Given the description of an element on the screen output the (x, y) to click on. 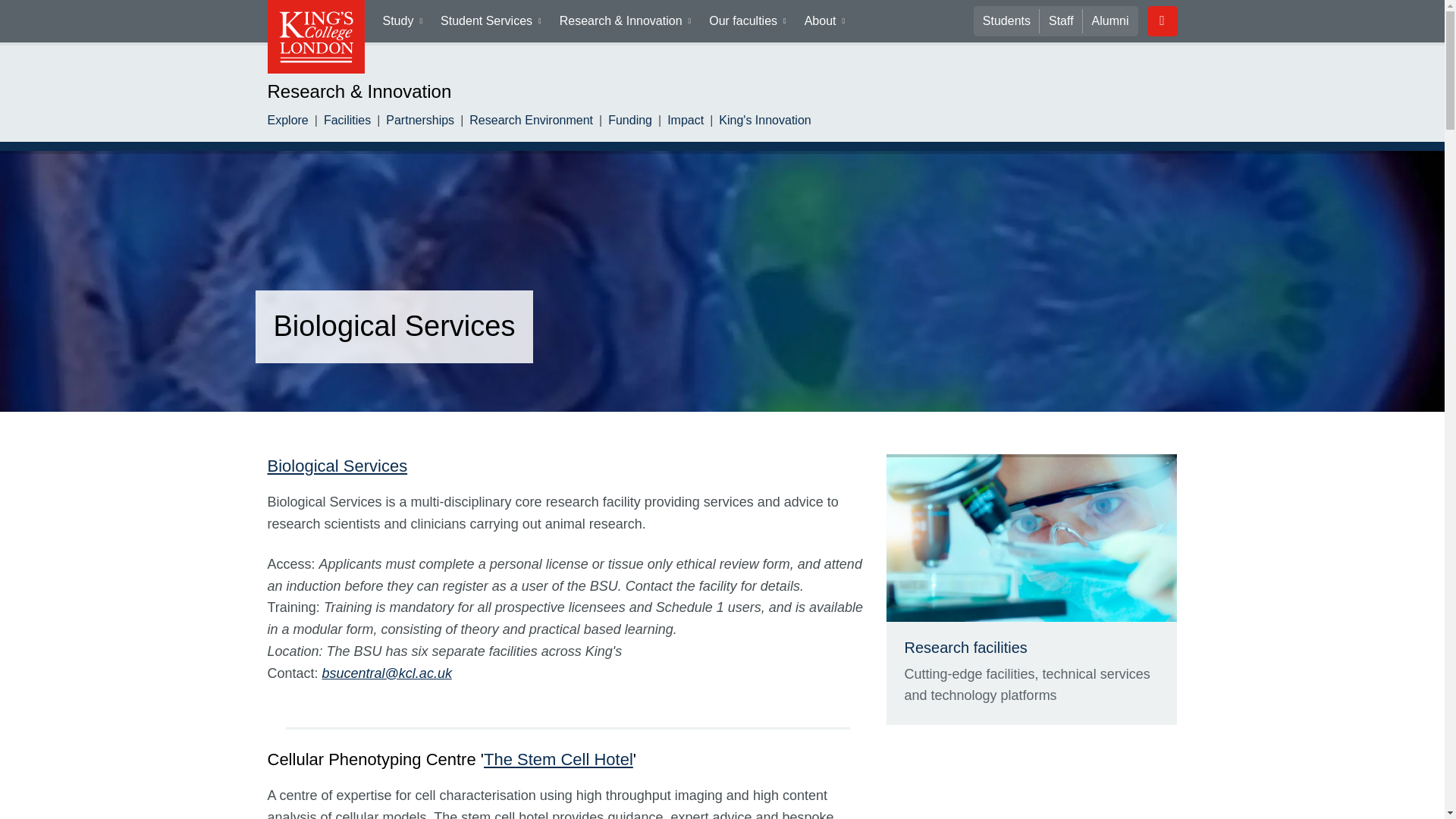
Research facilities (1030, 538)
Research facilities (965, 647)
